Given the description of an element on the screen output the (x, y) to click on. 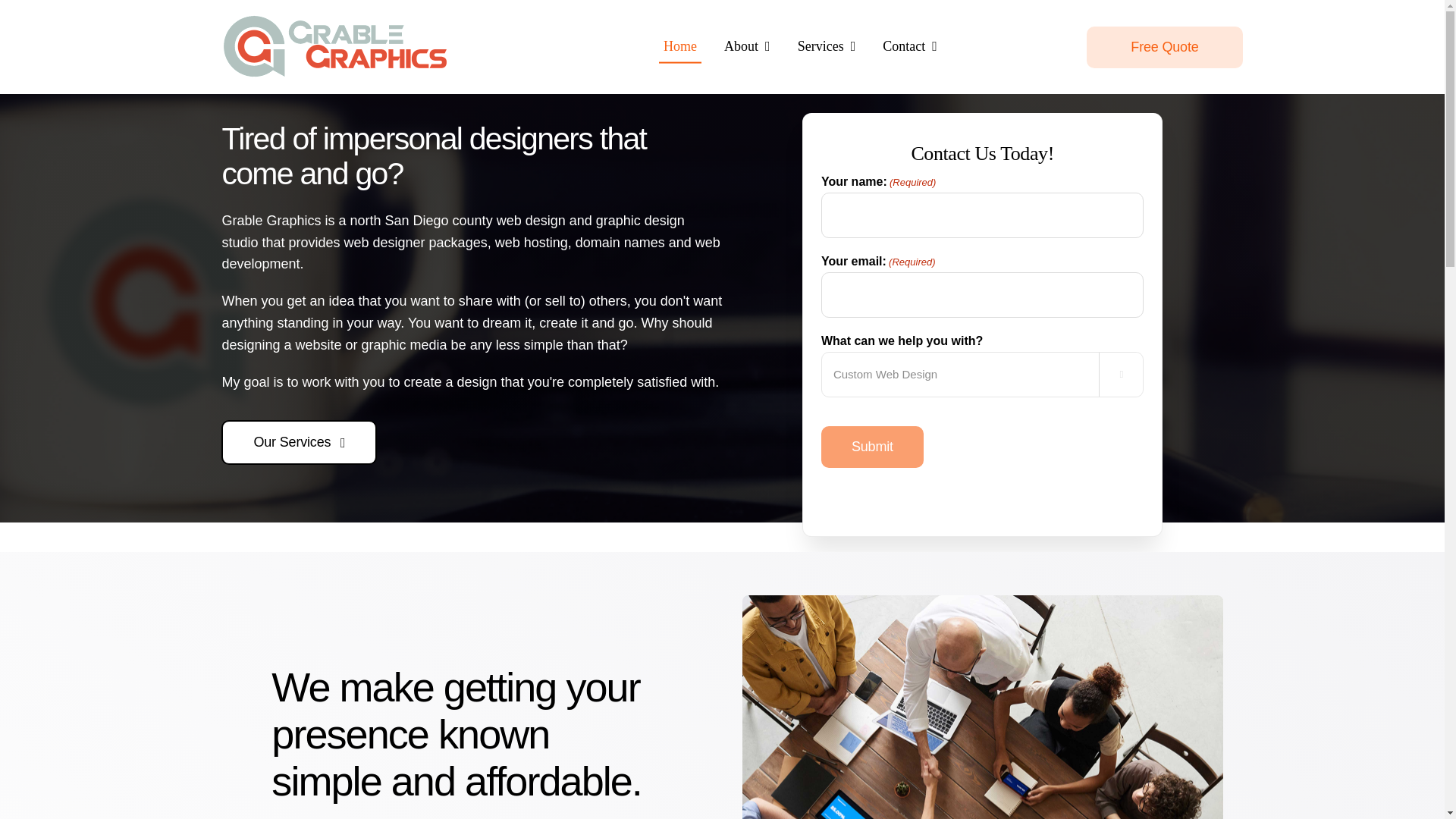
About (746, 47)
Our Services (299, 442)
Services (826, 47)
We boost our clients (982, 707)
Submit (872, 446)
Home (680, 47)
Free Quote (1164, 46)
Submit (872, 446)
Contact (909, 47)
